Given the description of an element on the screen output the (x, y) to click on. 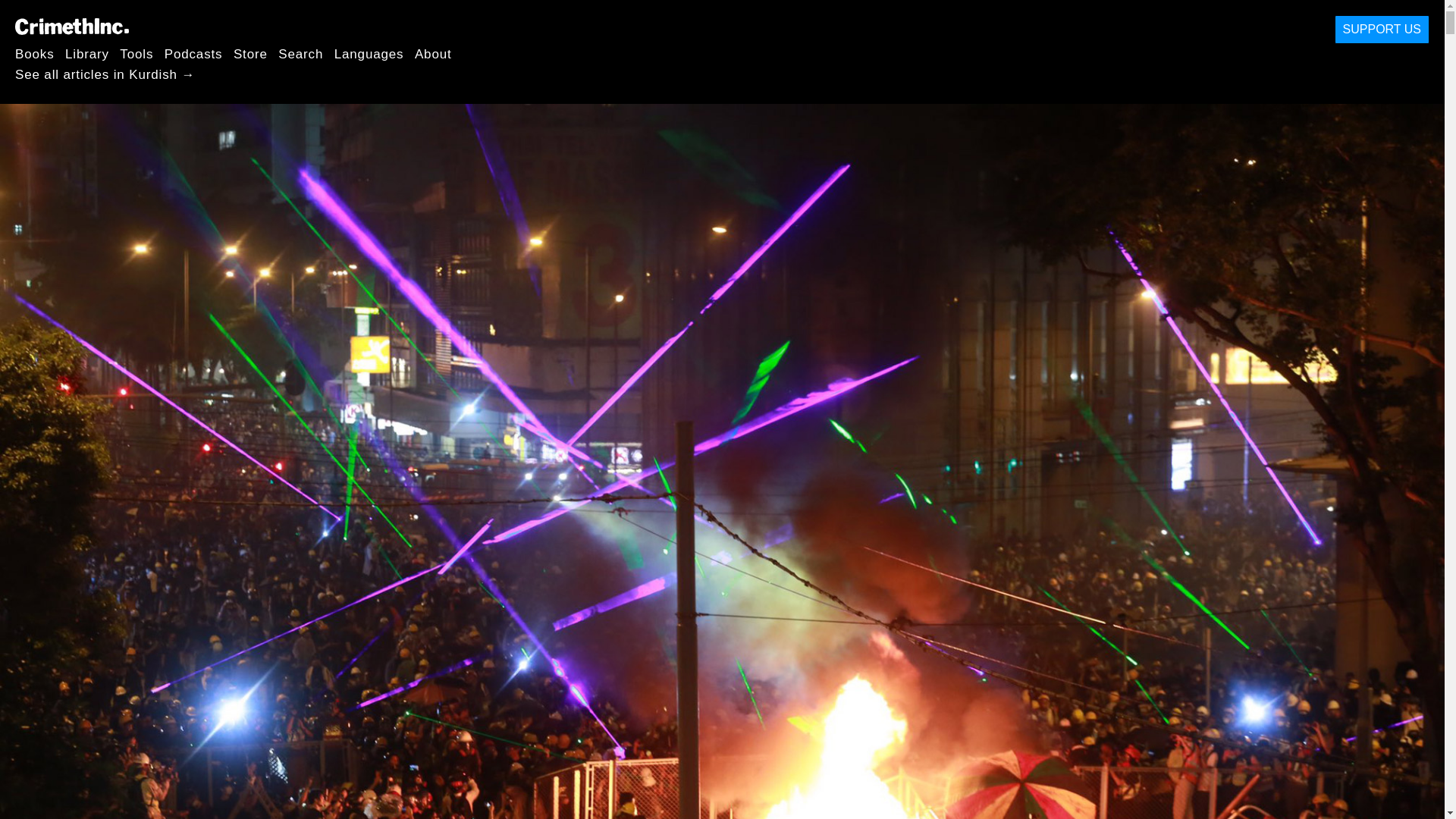
Store (249, 53)
SUPPORT US (1382, 29)
Books (34, 53)
Tools (135, 53)
About (432, 53)
Search (300, 53)
Languages (369, 53)
CrimethInc. (71, 26)
Podcasts (193, 53)
Library (87, 53)
